Given the description of an element on the screen output the (x, y) to click on. 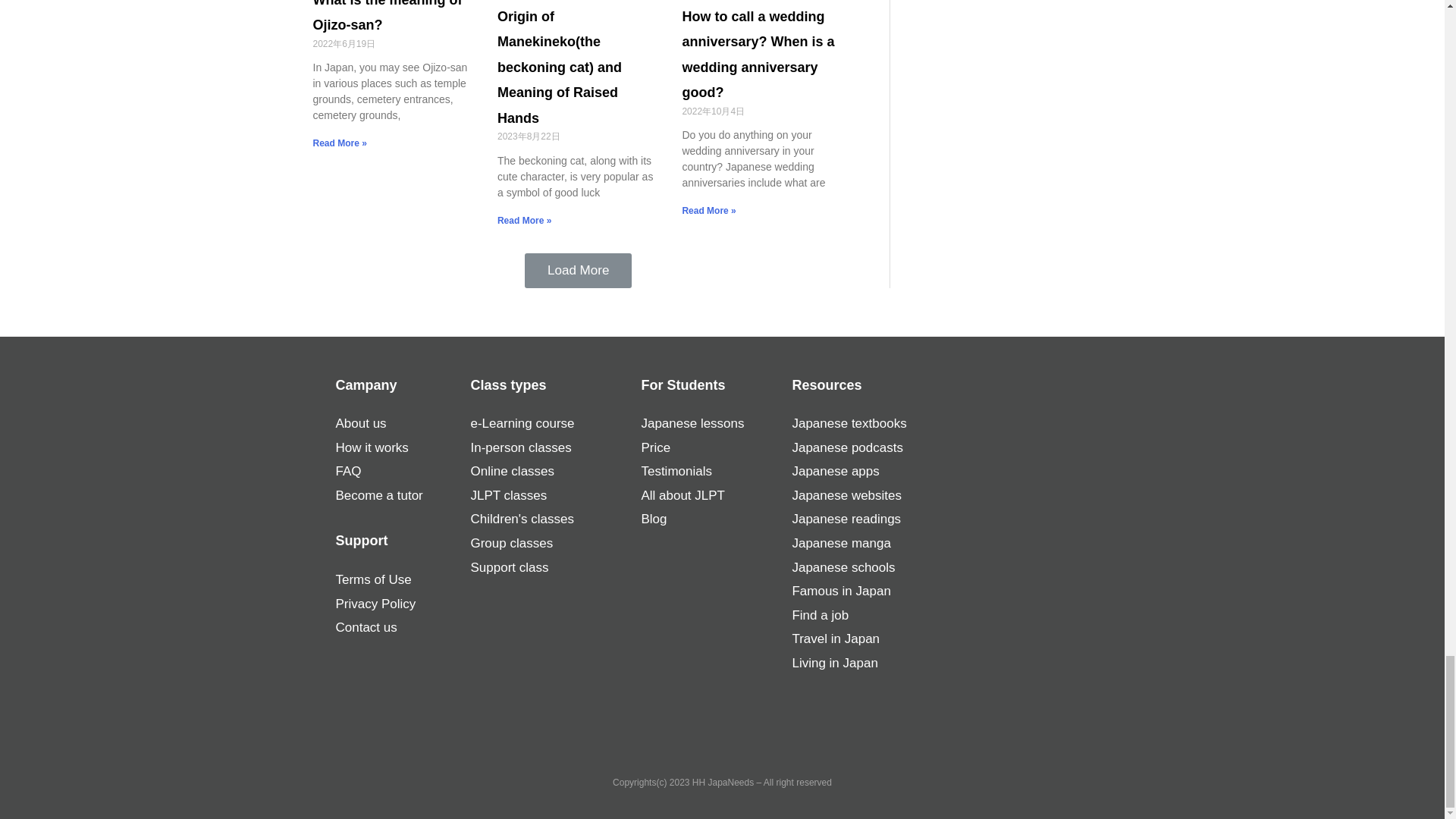
What is the meaning of Ojizo-san? (387, 16)
